Given the description of an element on the screen output the (x, y) to click on. 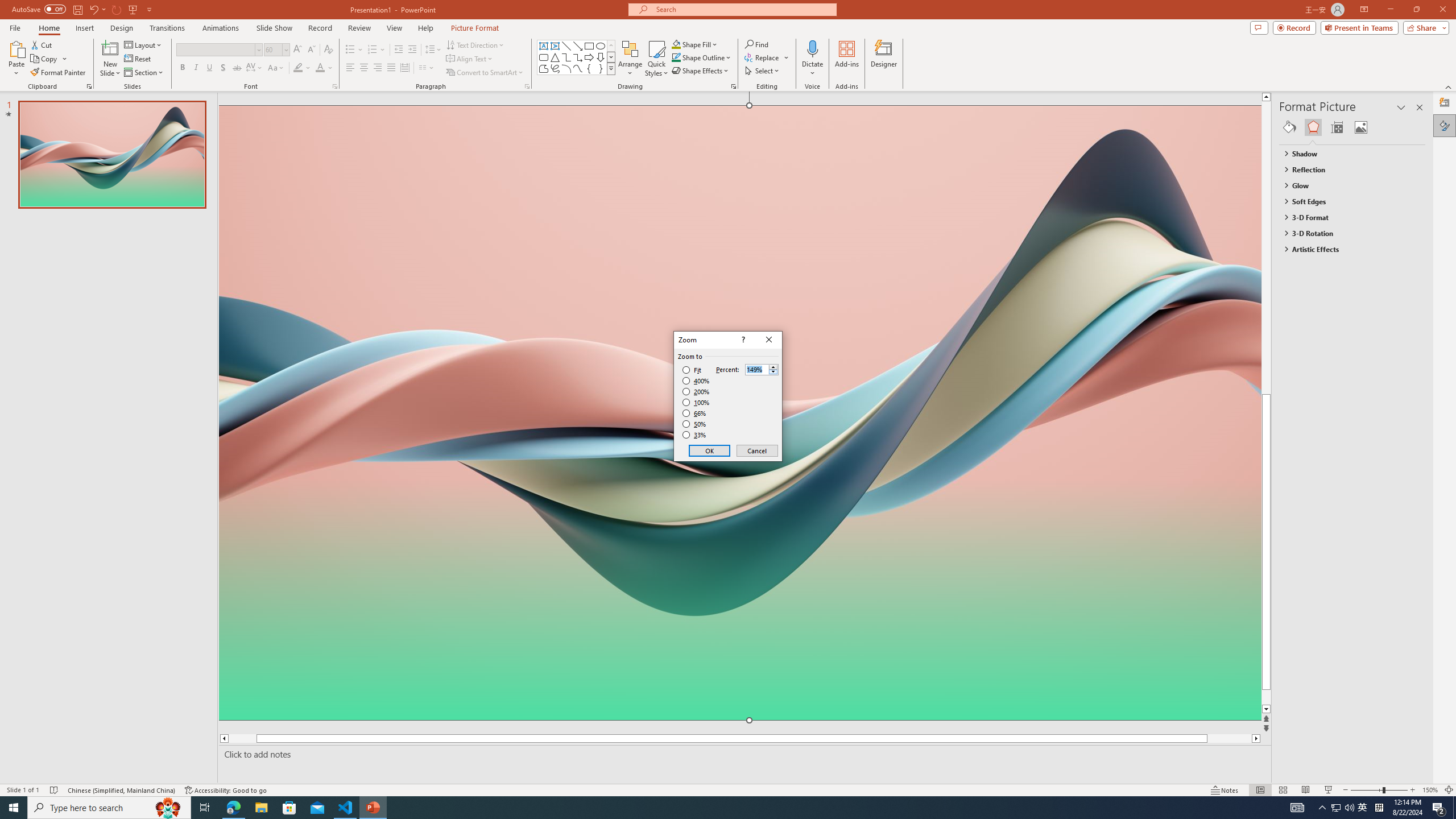
3-D Rotation (1347, 232)
Size & Properties (1336, 126)
Class: NetUIScrollBar (1420, 460)
